Given the description of an element on the screen output the (x, y) to click on. 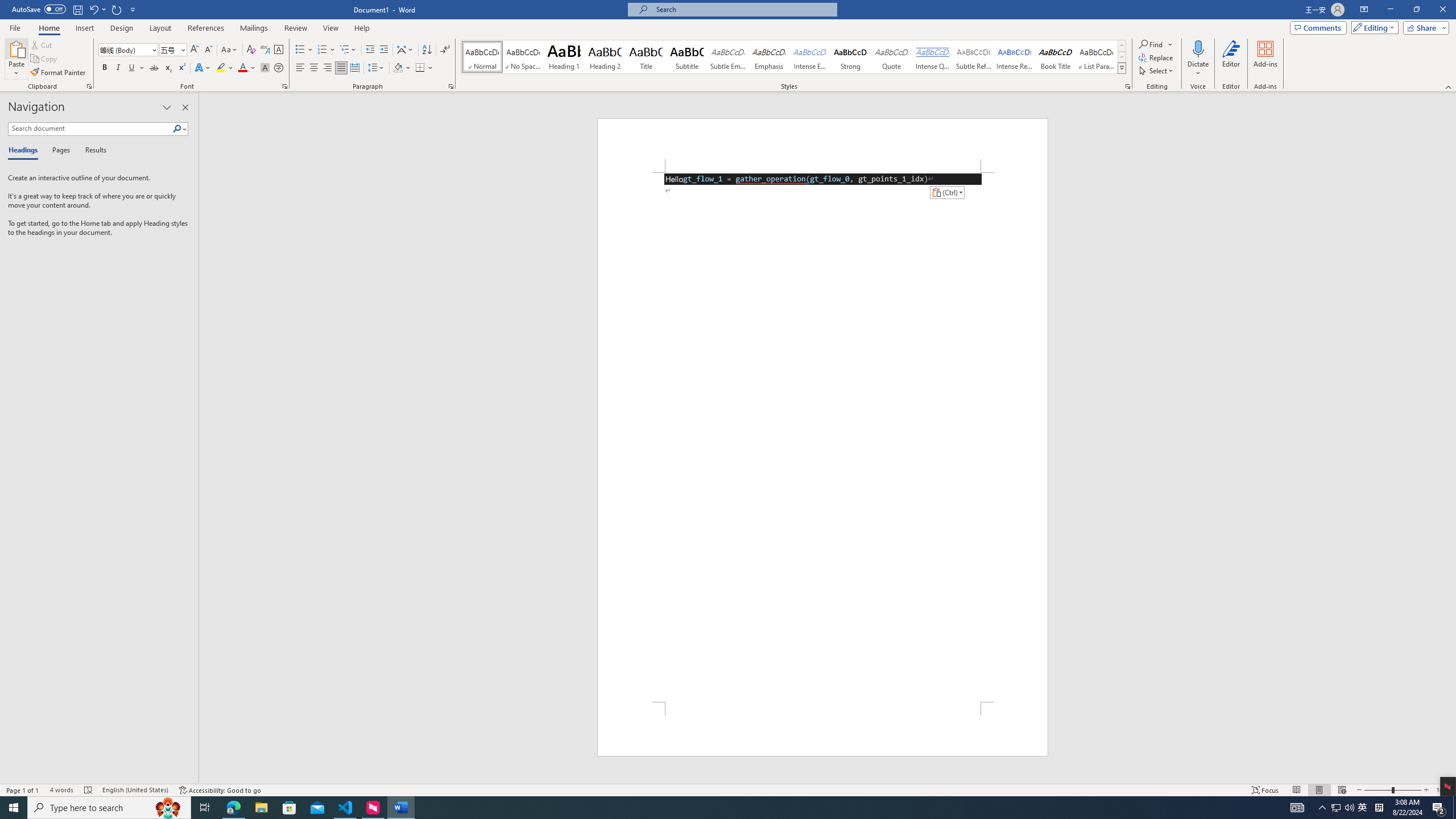
Emphasis (768, 56)
Subtle Emphasis (727, 56)
Heading 2 (605, 56)
Page Number Page 1 of 1 (22, 790)
